Given the description of an element on the screen output the (x, y) to click on. 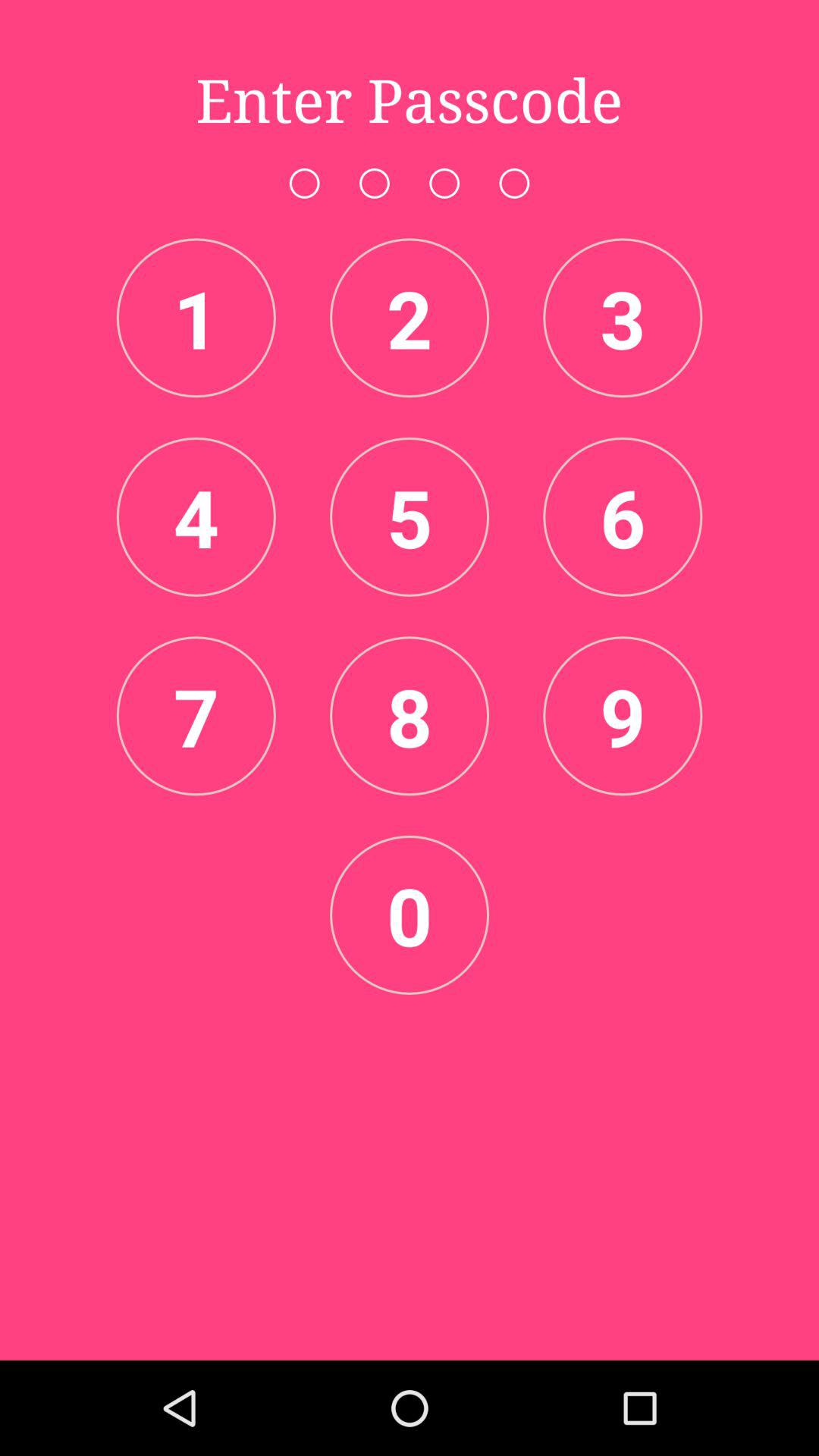
turn off item below the 5 (409, 715)
